Given the description of an element on the screen output the (x, y) to click on. 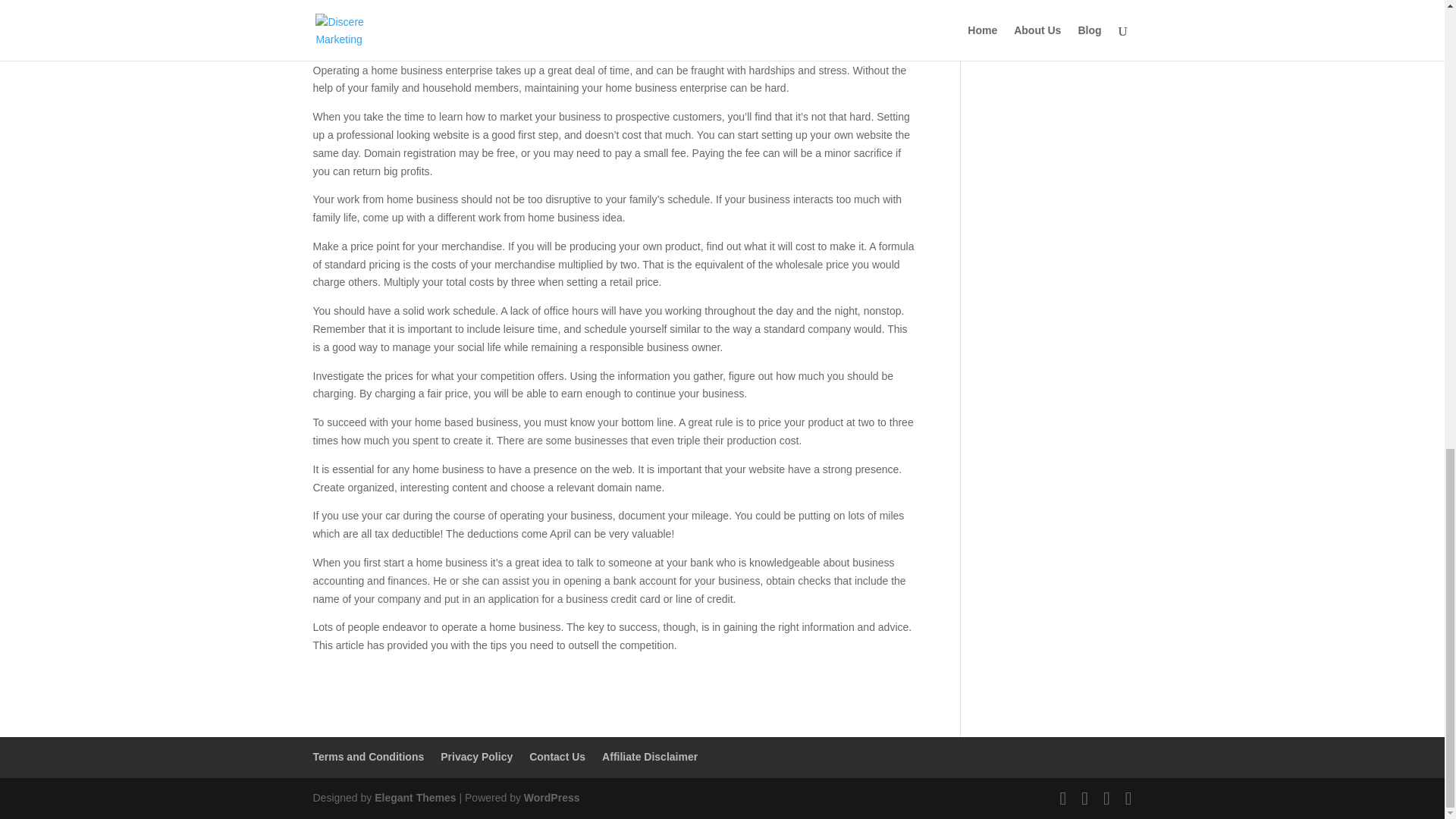
Terms and Conditions (368, 756)
Premium WordPress Themes (414, 797)
Privacy Policy (476, 756)
Affiliate Disclaimer (649, 756)
Contact Us (557, 756)
Elegant Themes (414, 797)
WordPress (551, 797)
